Given the description of an element on the screen output the (x, y) to click on. 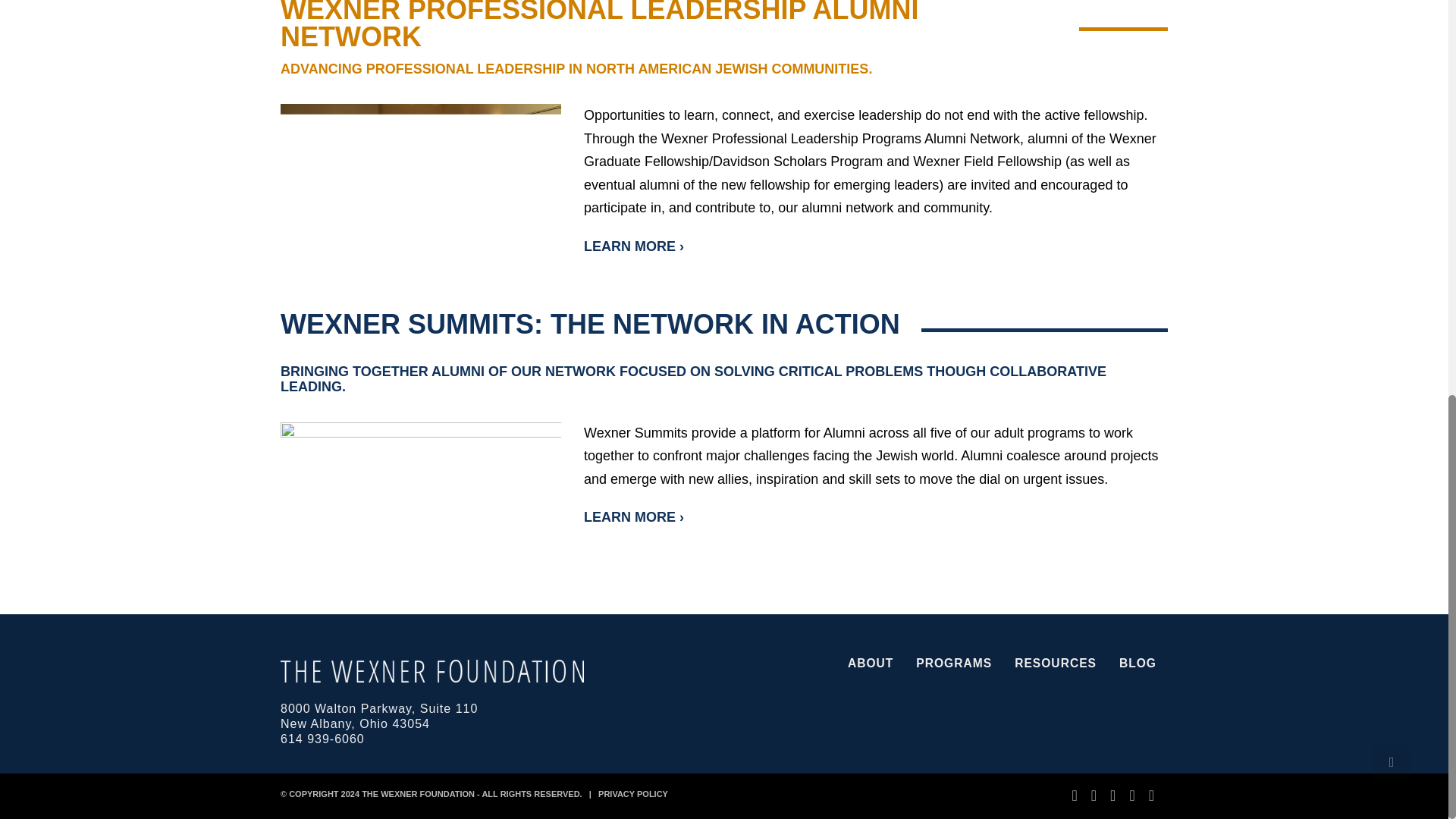
WGf Photo 3 (420, 182)
